Given the description of an element on the screen output the (x, y) to click on. 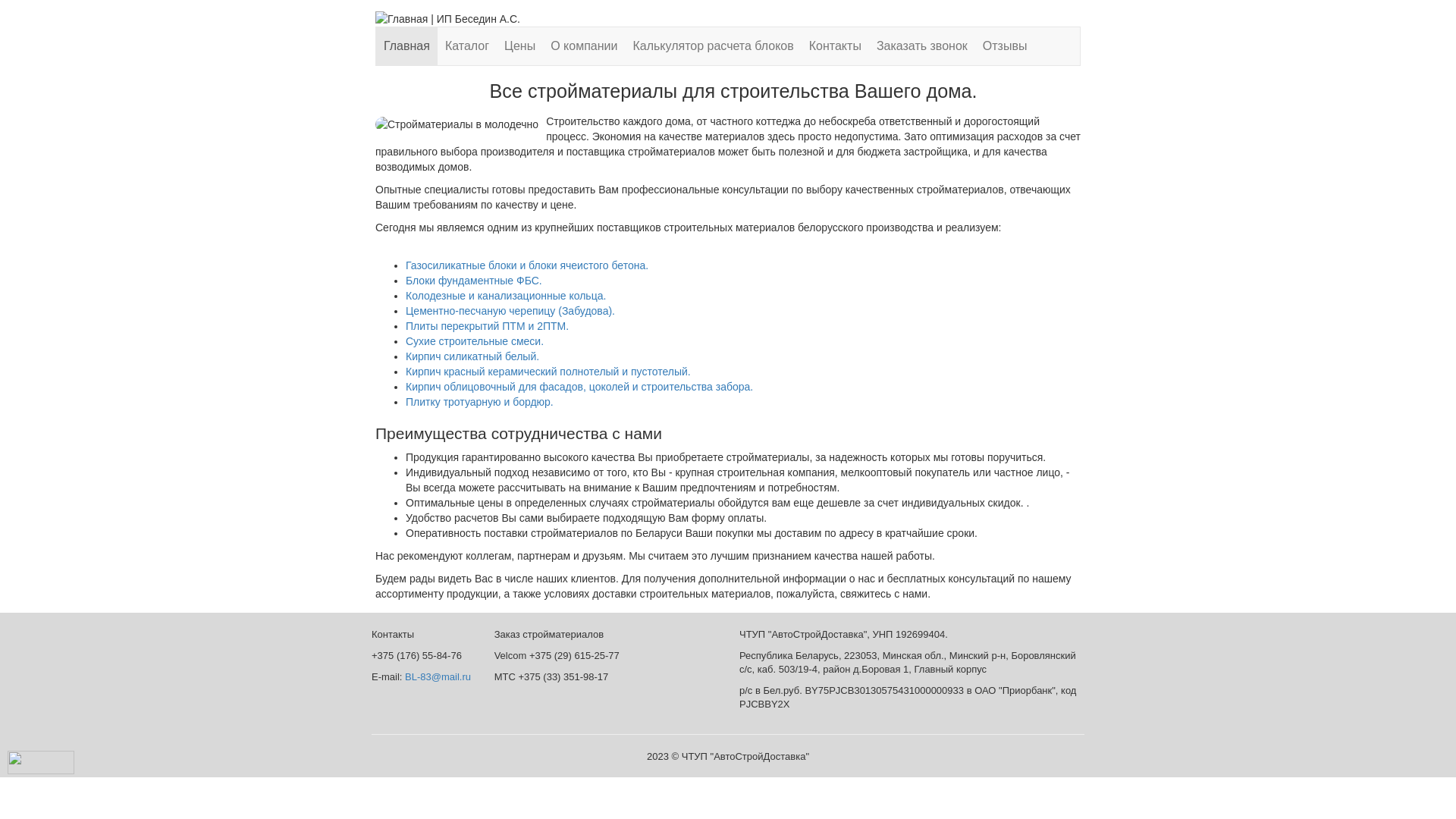
BL-83@mail.ru Element type: text (437, 676)
